Given the description of an element on the screen output the (x, y) to click on. 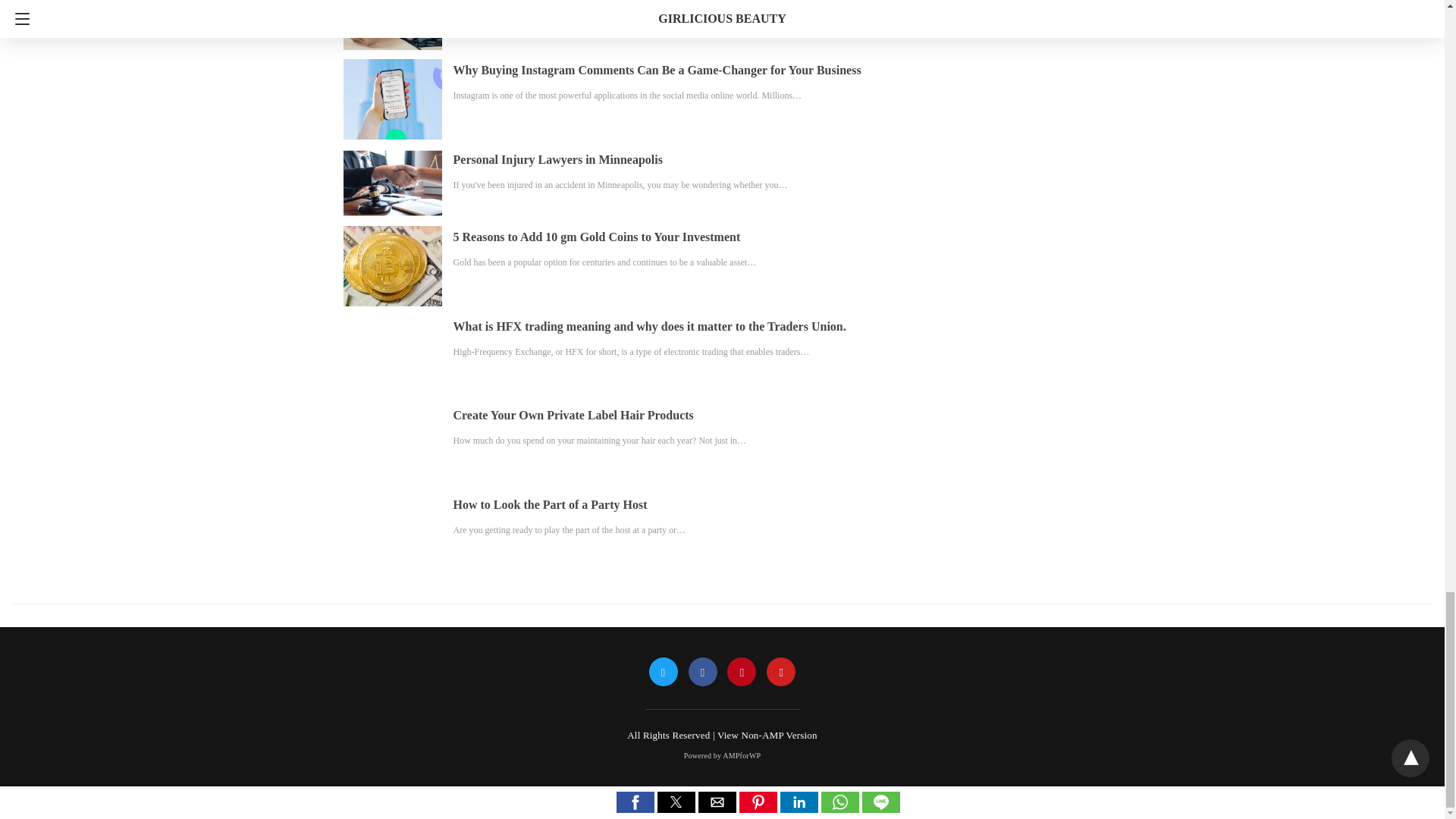
5 Reasons to Add 10 gm Gold Coins to Your Investment (596, 236)
5 Reasons to Add 10 gm Gold Coins to Your Investment (596, 236)
Personal Injury Lawyers in Minneapolis (557, 159)
How to Look the Part of a Party Host (549, 504)
Personal Injury Lawyers in Minneapolis (557, 159)
Powered by AMPforWP (722, 755)
Create Your Own Private Label Hair Products (573, 414)
